Given the description of an element on the screen output the (x, y) to click on. 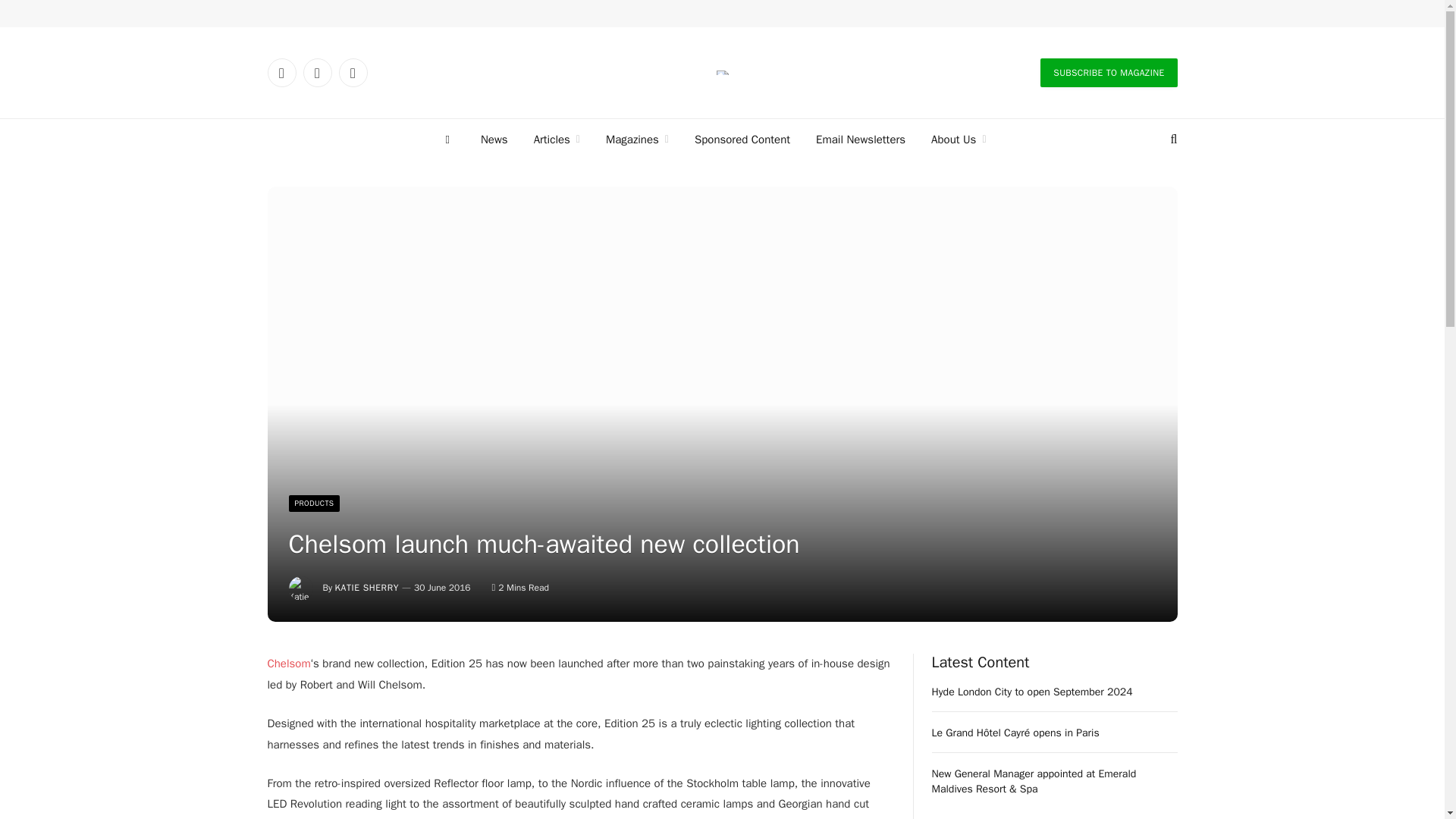
Instagram (351, 72)
Articles (556, 138)
Hospitality Interiors (722, 72)
Posts by Katie Sherry (366, 587)
SUBSCRIBE TO MAGAZINE (1108, 72)
Search (1172, 139)
News (494, 138)
LinkedIn (280, 72)
